Given the description of an element on the screen output the (x, y) to click on. 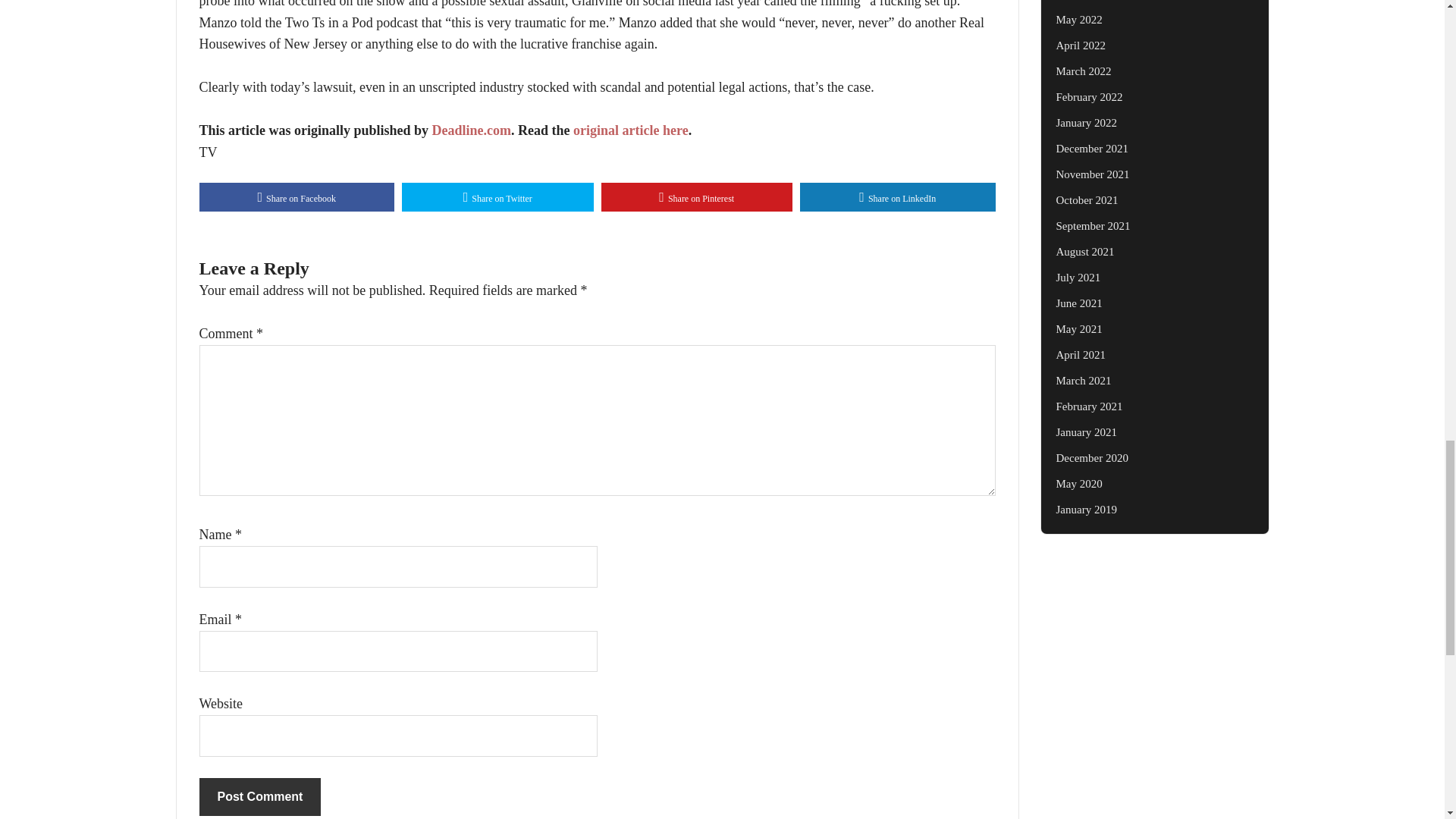
TV (207, 151)
Post Comment (259, 796)
